Given the description of an element on the screen output the (x, y) to click on. 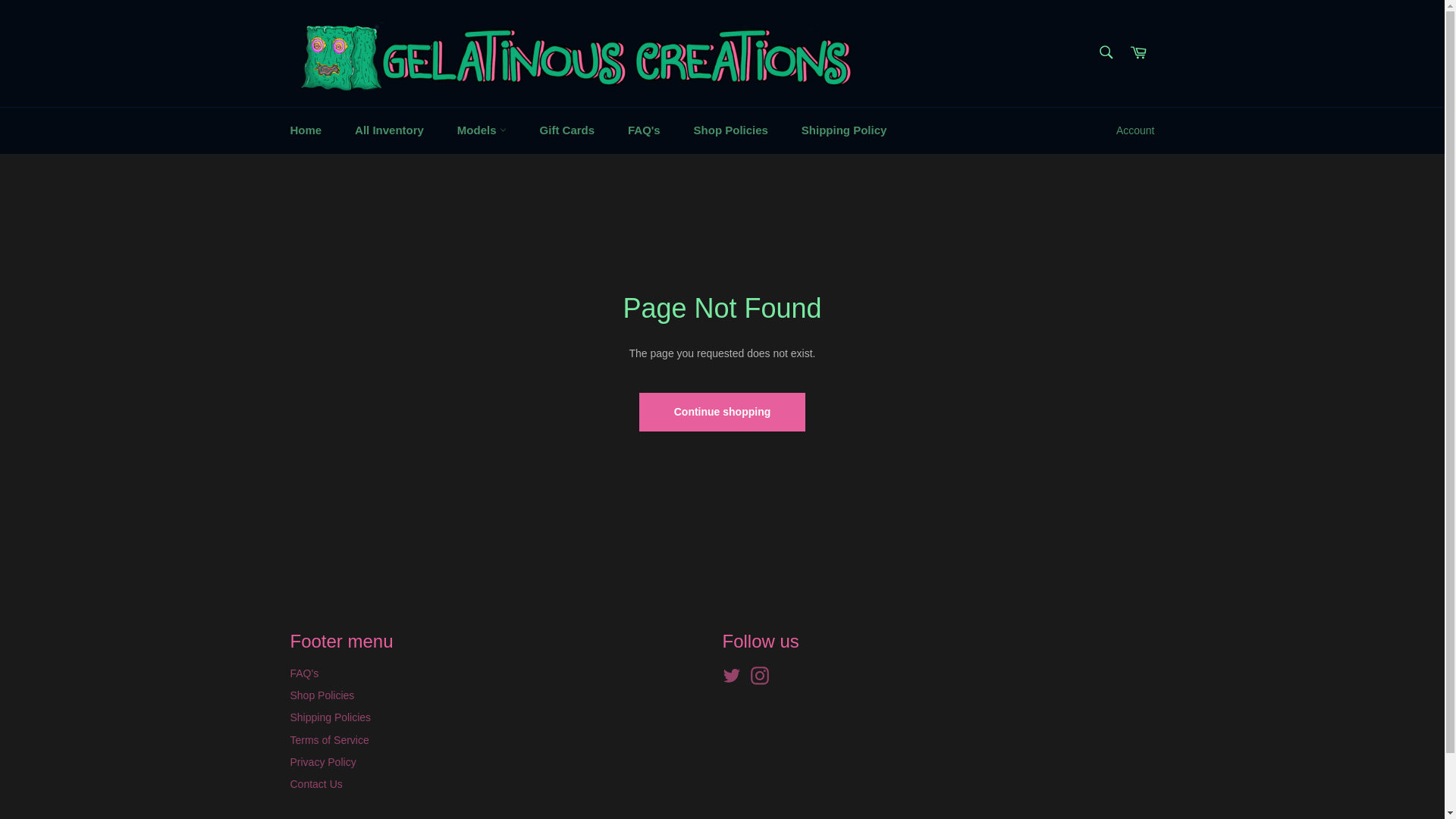
Home (305, 130)
Gelatinous Creations on Twitter (735, 675)
All Inventory (389, 130)
Gelatinous Creations on Instagram (763, 675)
Models (481, 130)
Cart (1138, 53)
Search (1104, 51)
